Given the description of an element on the screen output the (x, y) to click on. 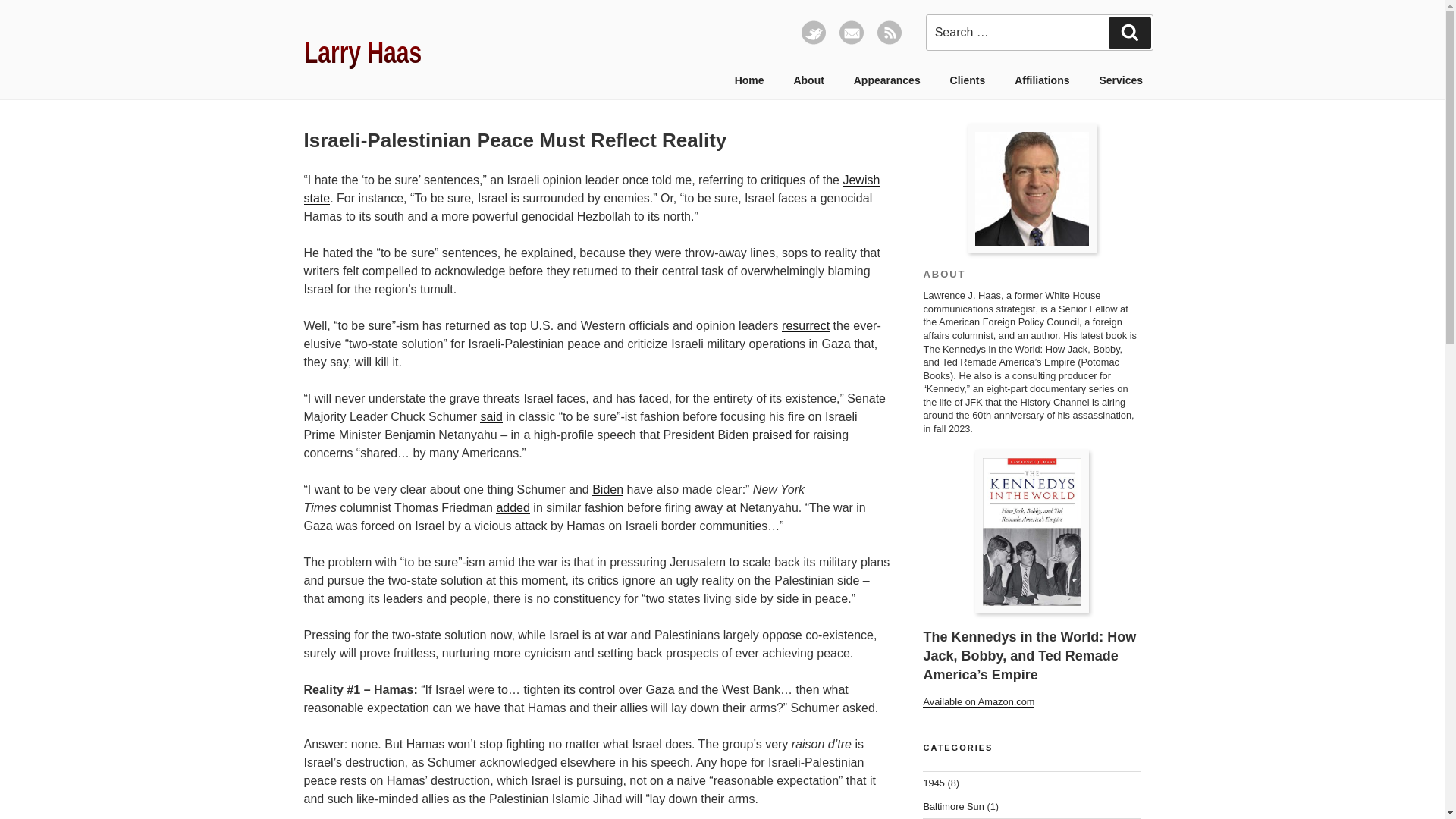
E-mail (851, 40)
RSS (889, 40)
resurrect (805, 325)
said (491, 416)
added (512, 507)
praised (772, 434)
Appearances (886, 80)
Home (748, 80)
Larry Haas (381, 52)
Services (1121, 80)
Larry Haas (1032, 188)
Search (1129, 32)
Available on Amazon.com (978, 701)
Clients (967, 80)
1945 (933, 782)
